Given the description of an element on the screen output the (x, y) to click on. 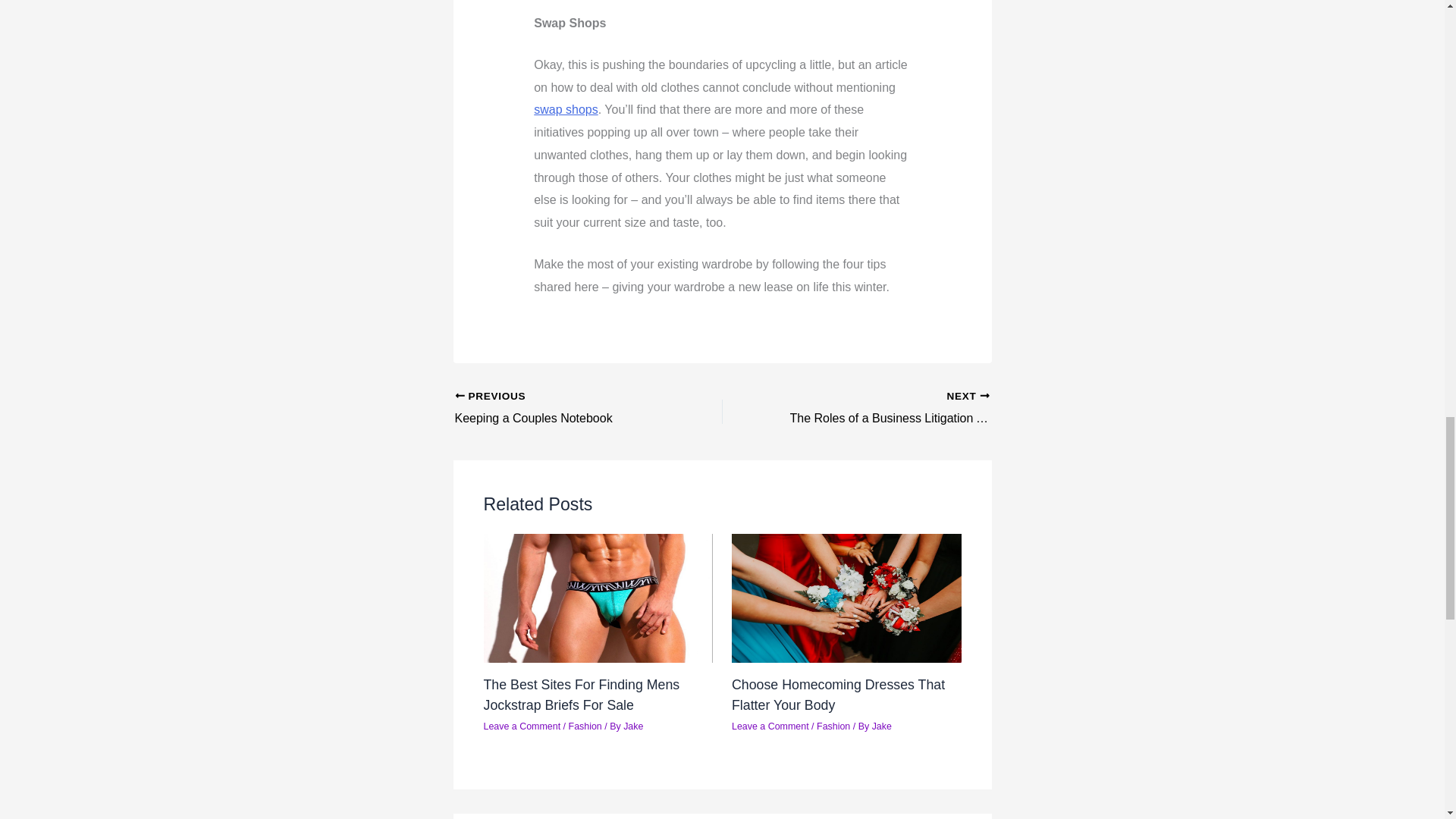
View all posts by Jake (633, 726)
Keeping a Couples Notebook (561, 408)
View all posts by Jake (881, 726)
The Roles of a Business Litigation Attorney (882, 408)
